Given the description of an element on the screen output the (x, y) to click on. 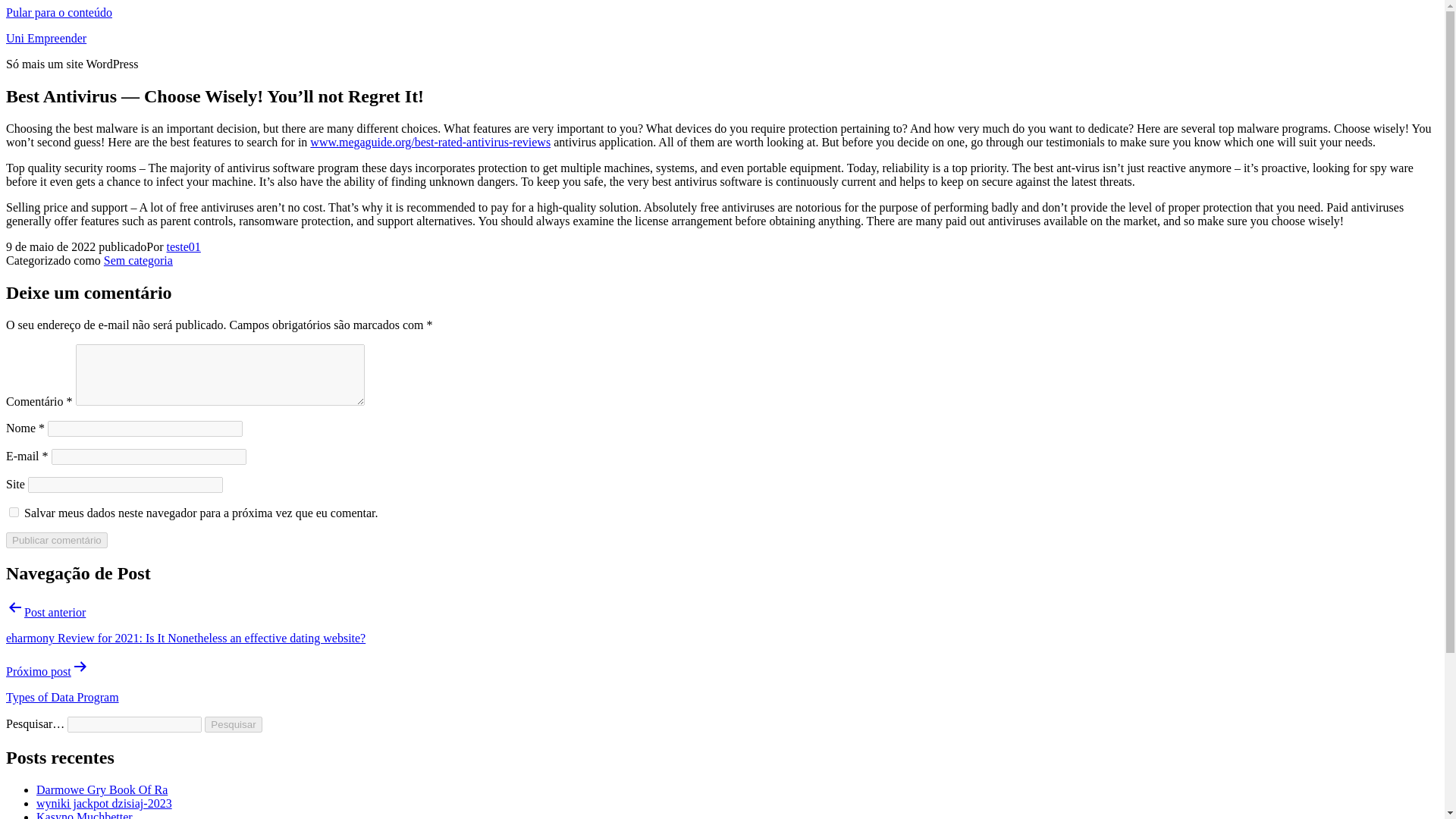
Pesquisar (233, 724)
Kasyno Muchbetter (84, 814)
yes (13, 511)
teste01 (183, 246)
Pesquisar (233, 724)
wyniki jackpot dzisiaj-2023 (103, 802)
Darmowe Gry Book Of Ra (101, 789)
Pesquisar (233, 724)
Sem categoria (138, 259)
Uni Empreender (45, 38)
